Given the description of an element on the screen output the (x, y) to click on. 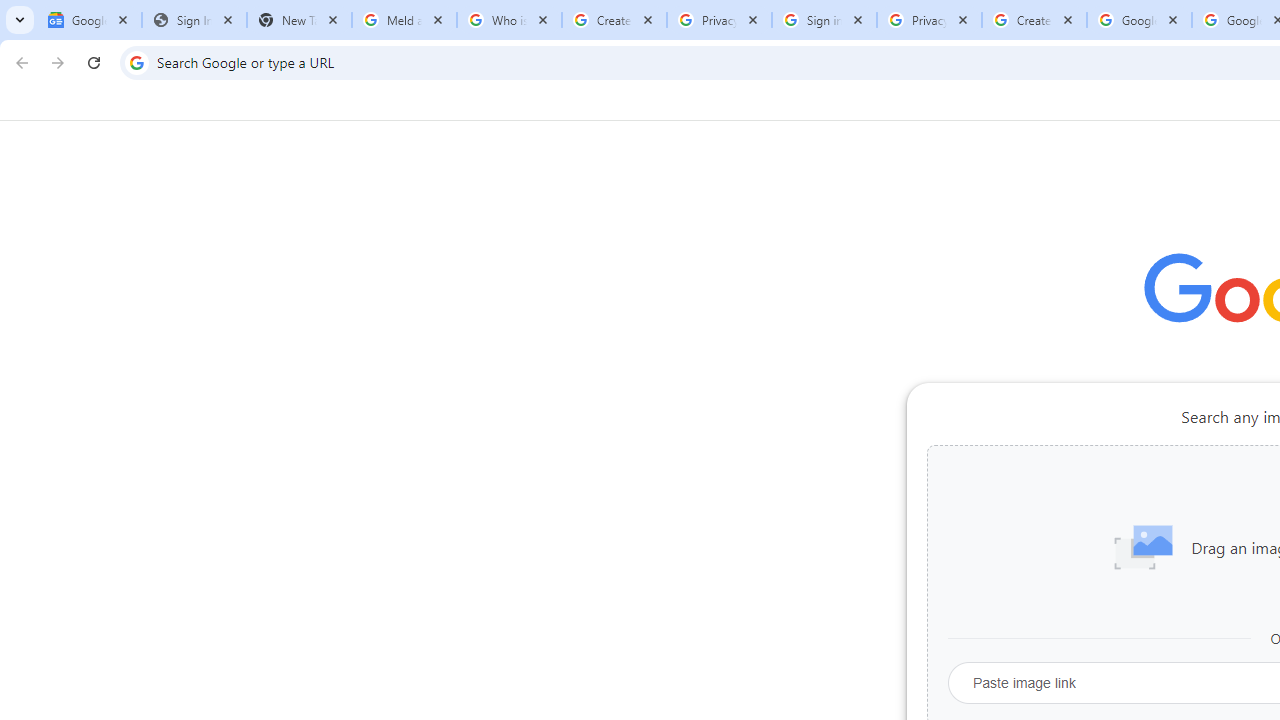
Google News (89, 20)
Sign In - USA TODAY (194, 20)
More actions for Chrome Web Store shortcut (1208, 466)
Who is my administrator? - Google Account Help (509, 20)
Create your Google Account (613, 20)
Sign in - Google Accounts (823, 20)
Chrome Web Store (1167, 504)
